Given the description of an element on the screen output the (x, y) to click on. 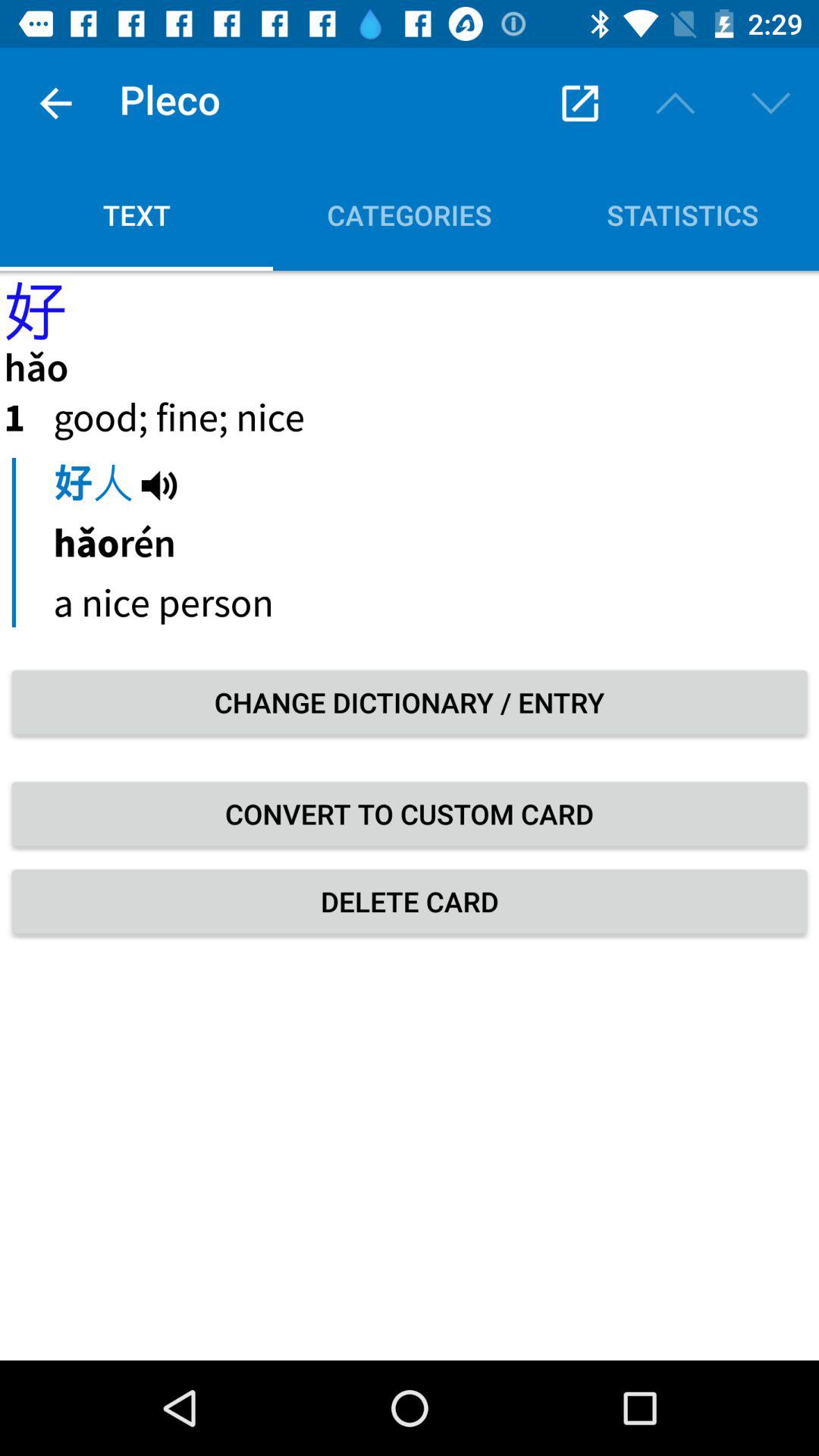
tap item next to pleco (55, 103)
